Given the description of an element on the screen output the (x, y) to click on. 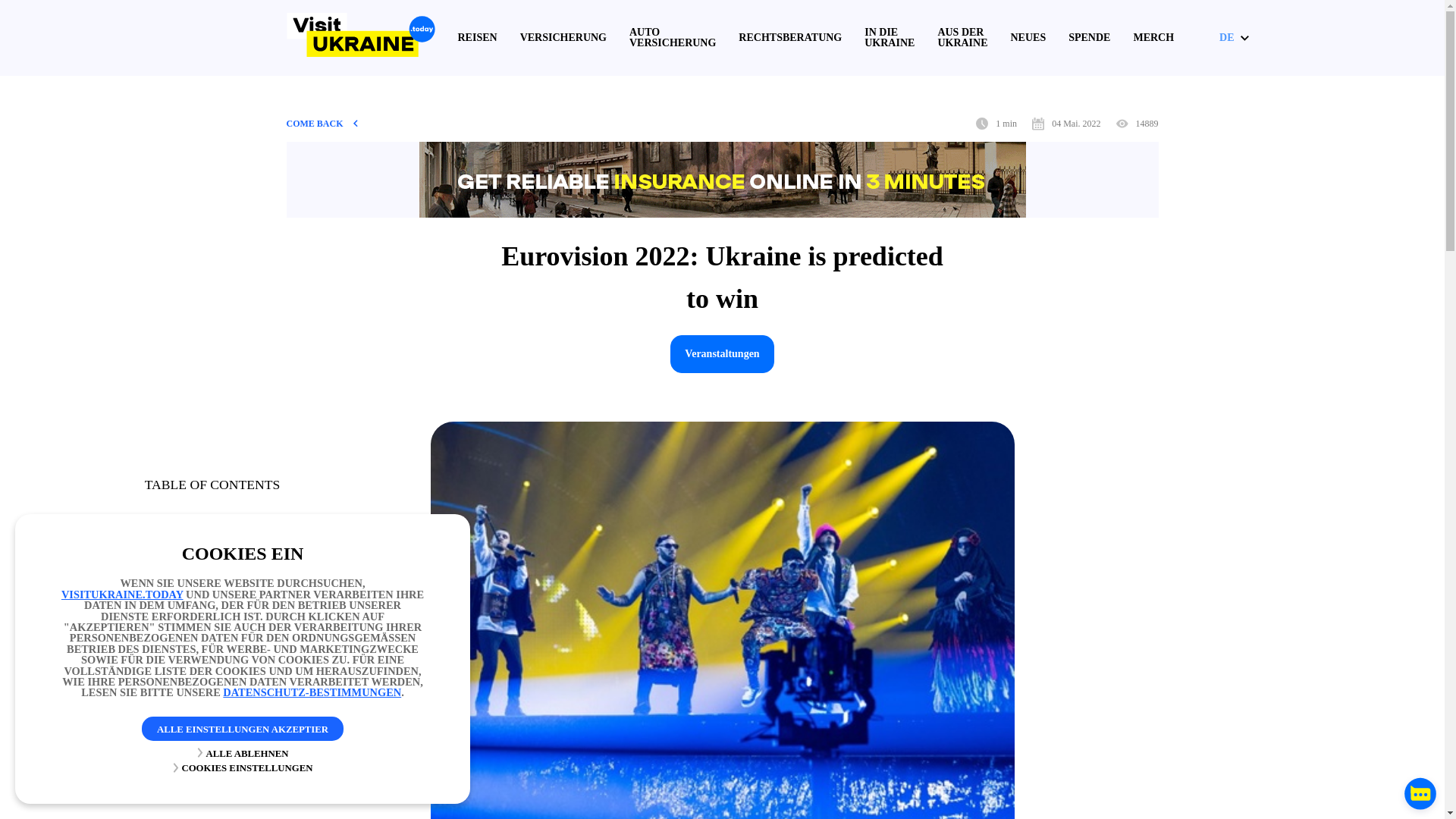
AUTO VERSICHERUNG (672, 37)
RECHTSBERATUNG (789, 37)
VISITUKRAINE.TODAY (122, 594)
REISEN (477, 37)
ALLE EINSTELLUNGEN AKZEPTIER (242, 728)
VERSICHERUNG (563, 37)
DATENSCHUTZ-BESTIMMUNGEN (311, 692)
